Given the description of an element on the screen output the (x, y) to click on. 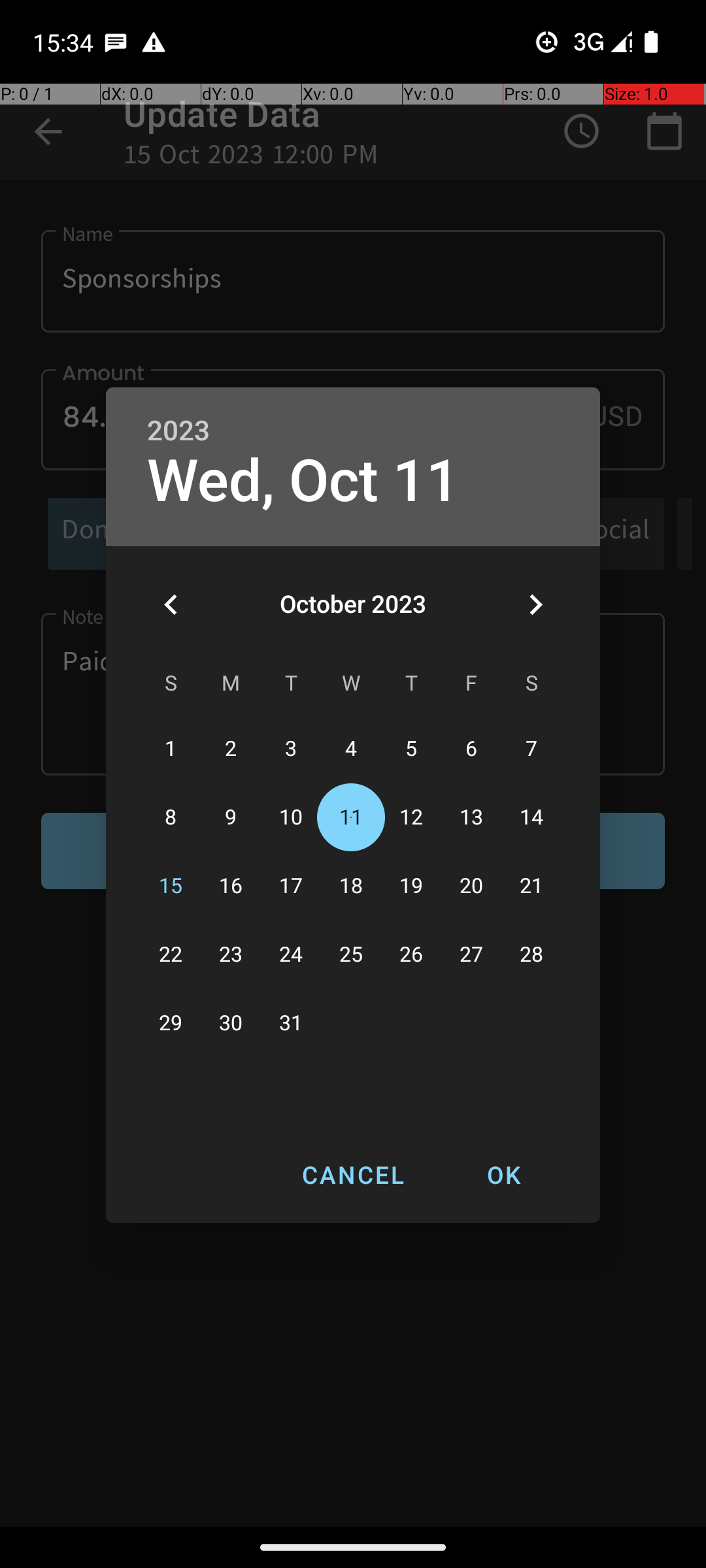
Wed, Oct 11 Element type: android.widget.TextView (303, 480)
